Given the description of an element on the screen output the (x, y) to click on. 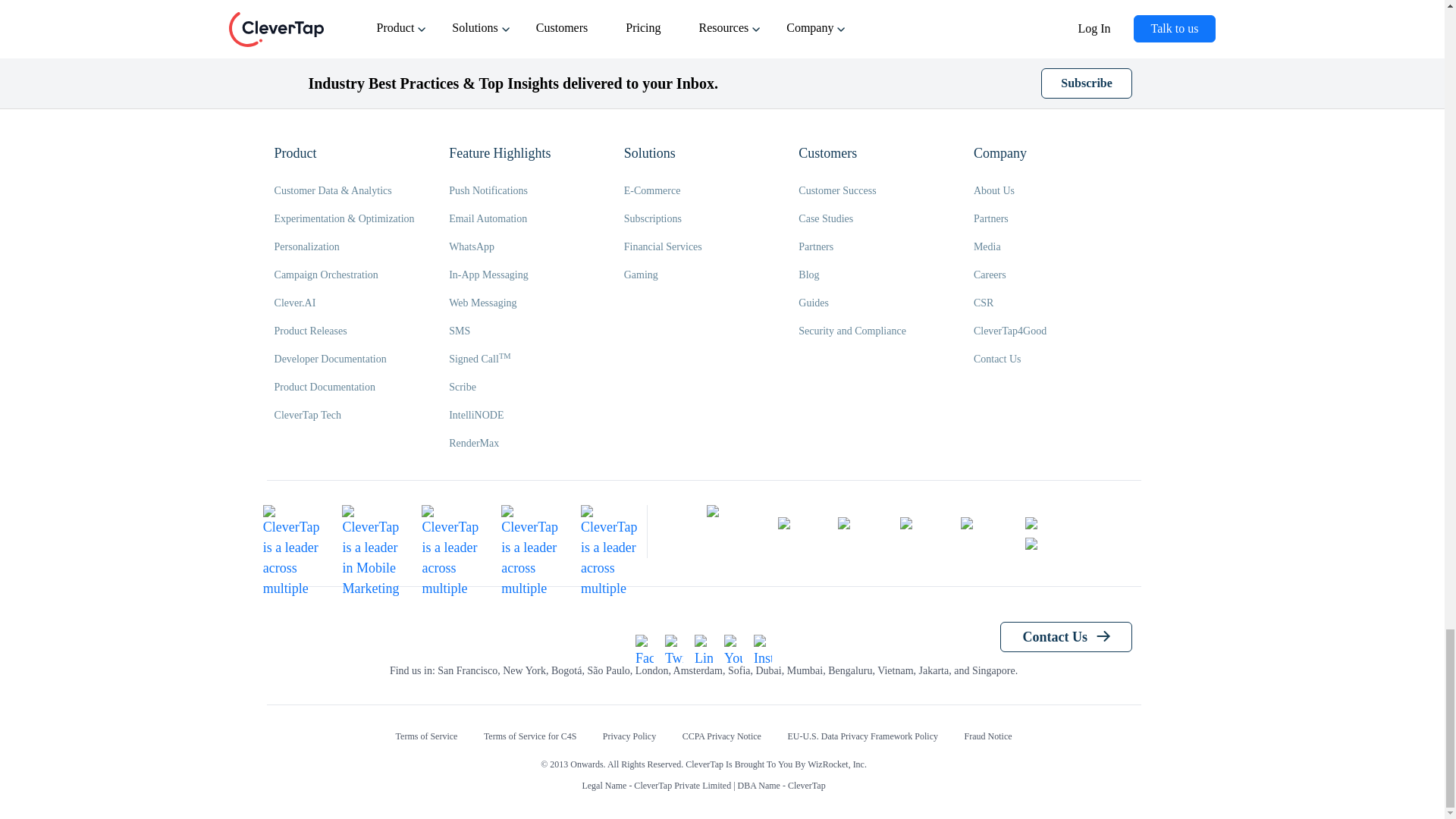
MobileMarketing Leader Mid-Market Leader on G2 (291, 533)
CleverTap is a leader in Mobile Marketing on G2 (370, 533)
Mobile Marketing Best Estimated ROI Mid-Market Roi (528, 533)
Mobile Marketing Best Estimated ROI Mid-Market Roi (608, 533)
Mobile Marketing Best Estimated ROI Mid-Market Roi (450, 533)
